Given the description of an element on the screen output the (x, y) to click on. 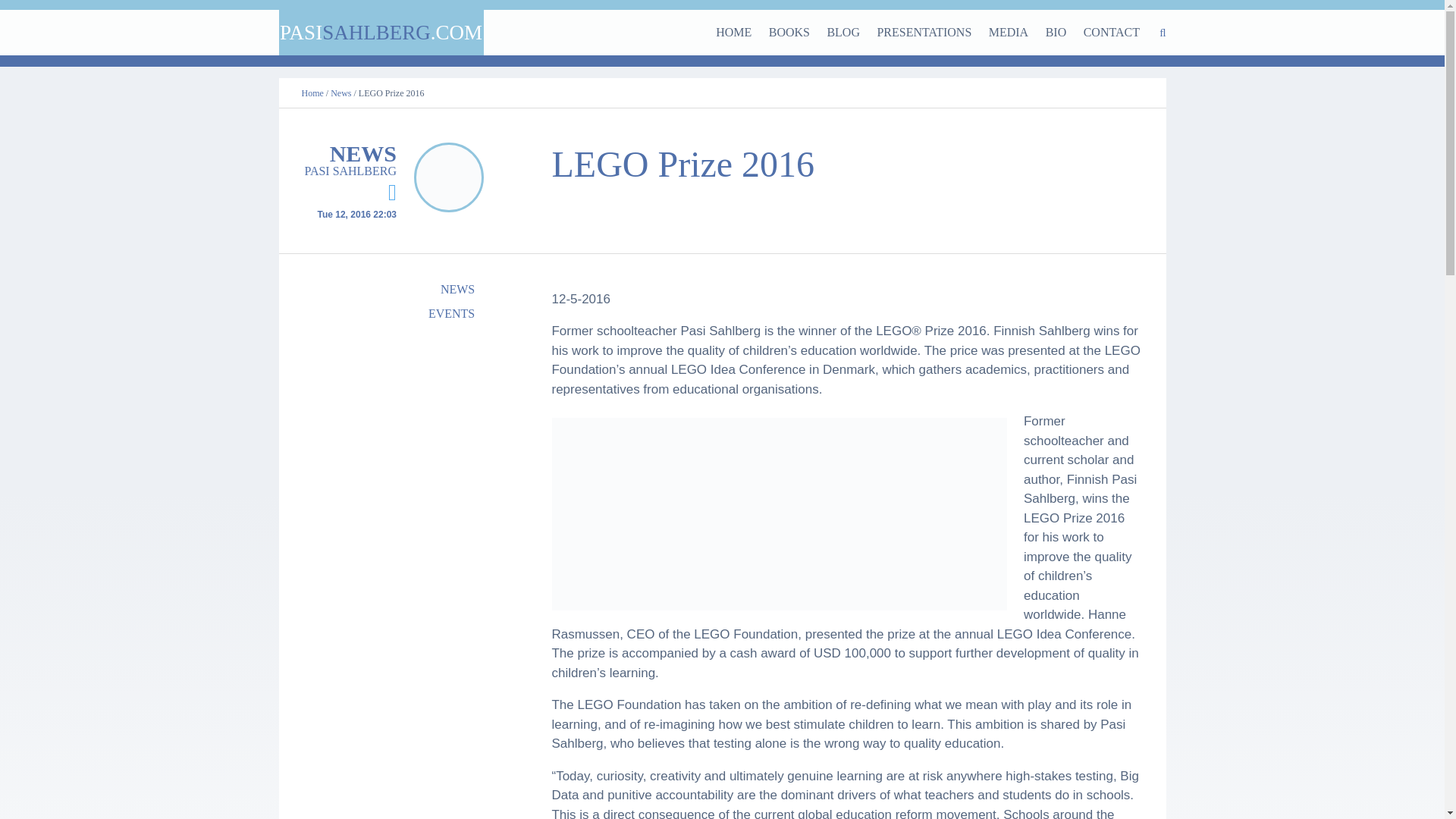
EVENTS (395, 314)
BOOKS (788, 32)
Home (312, 92)
NEWS (395, 289)
CONTACT (1111, 32)
PRESENTATIONS (923, 32)
PASISAHLBERG.COM (381, 32)
News (340, 92)
